Given the description of an element on the screen output the (x, y) to click on. 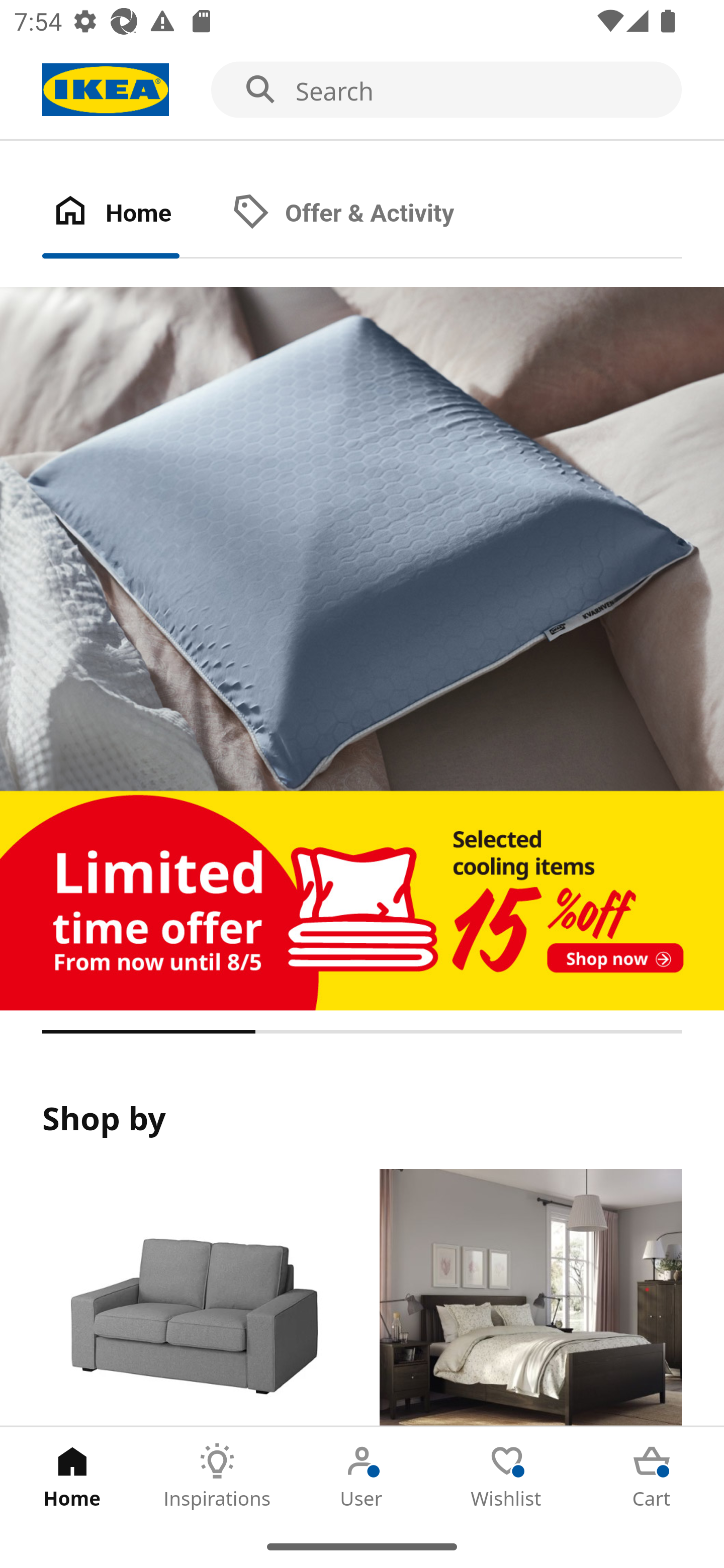
Search (361, 90)
Home
Tab 1 of 2 (131, 213)
Offer & Activity
Tab 2 of 2 (363, 213)
Products (192, 1297)
Rooms (530, 1297)
Home
Tab 1 of 5 (72, 1476)
Inspirations
Tab 2 of 5 (216, 1476)
User
Tab 3 of 5 (361, 1476)
Wishlist
Tab 4 of 5 (506, 1476)
Cart
Tab 5 of 5 (651, 1476)
